Given the description of an element on the screen output the (x, y) to click on. 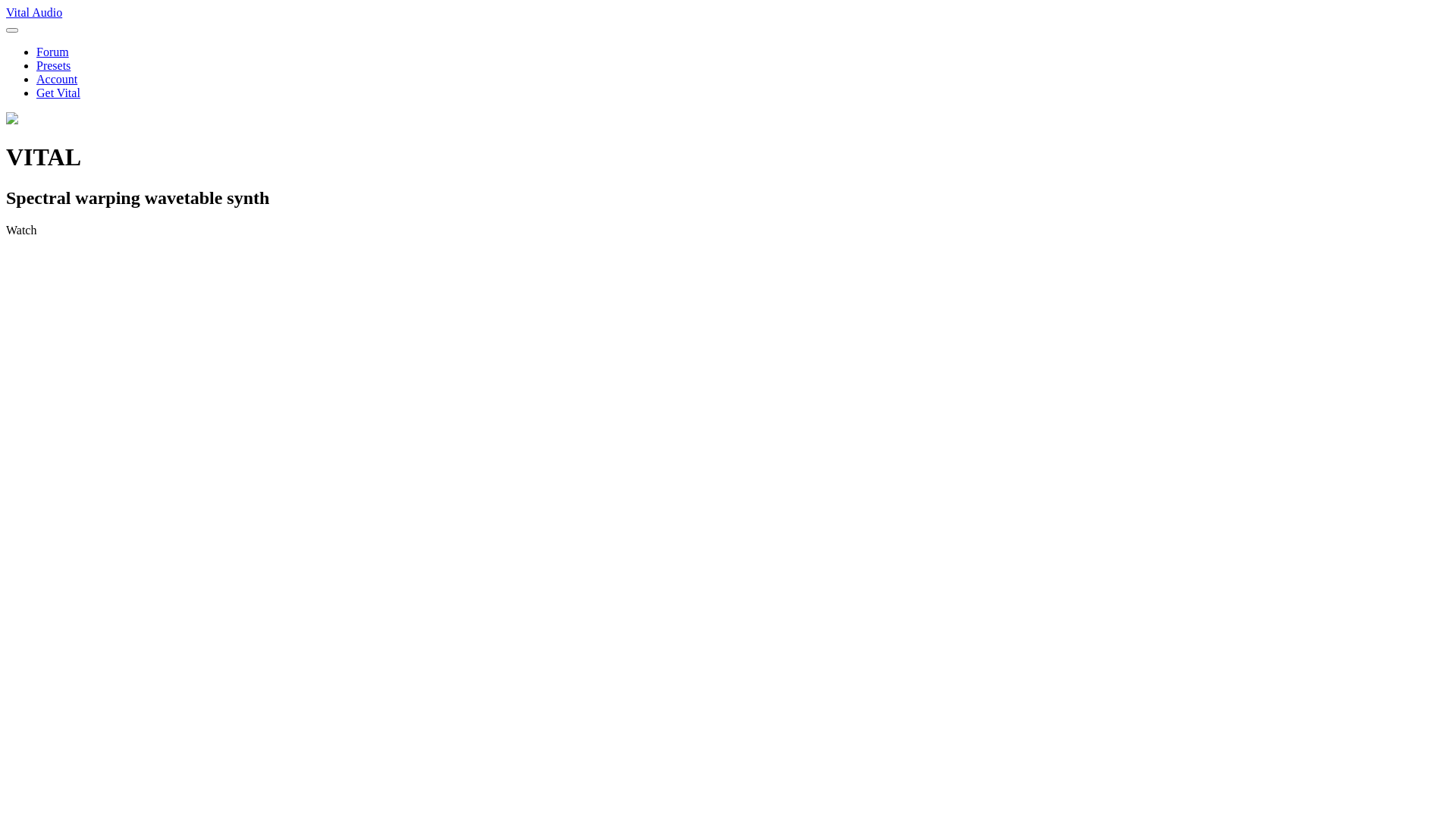
Presets Element type: text (53, 65)
Forum Element type: text (52, 51)
Vital Audio Element type: text (727, 19)
Get Vital Element type: text (58, 92)
Watch Element type: text (727, 230)
Account Element type: text (56, 78)
